Given the description of an element on the screen output the (x, y) to click on. 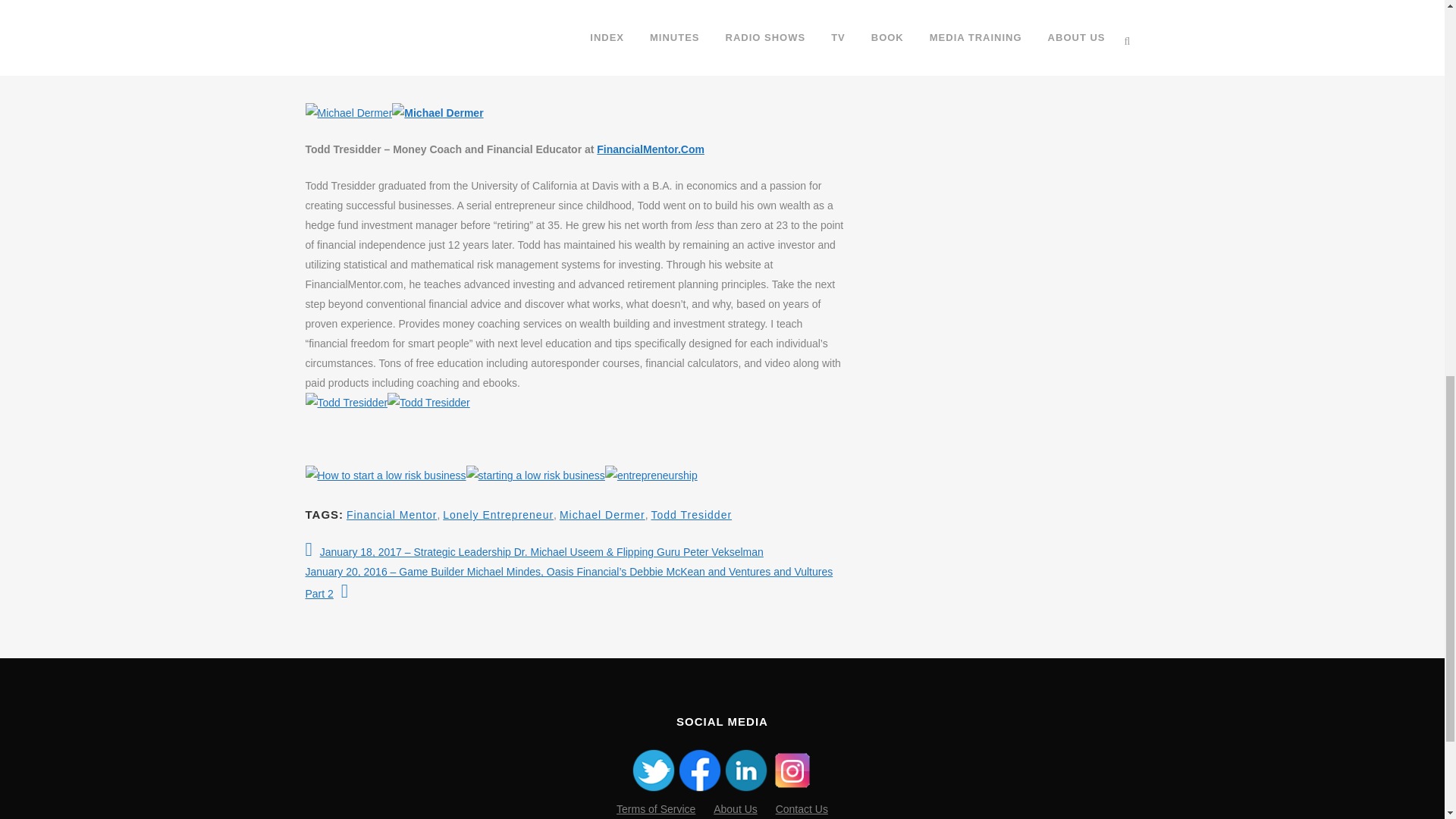
how to start a business with no money (384, 475)
how to start a business (535, 475)
how to start a business (651, 475)
Todd Tresidder (345, 402)
Visit Us On Twitter (651, 788)
Visit Us On Linkedin (745, 788)
Todd Tresidder (428, 402)
Michael Dermer  (347, 112)
Michael Dermer  (437, 112)
Visit Us On Facebook (699, 788)
FinancialMentor.Com (650, 149)
